Given the description of an element on the screen output the (x, y) to click on. 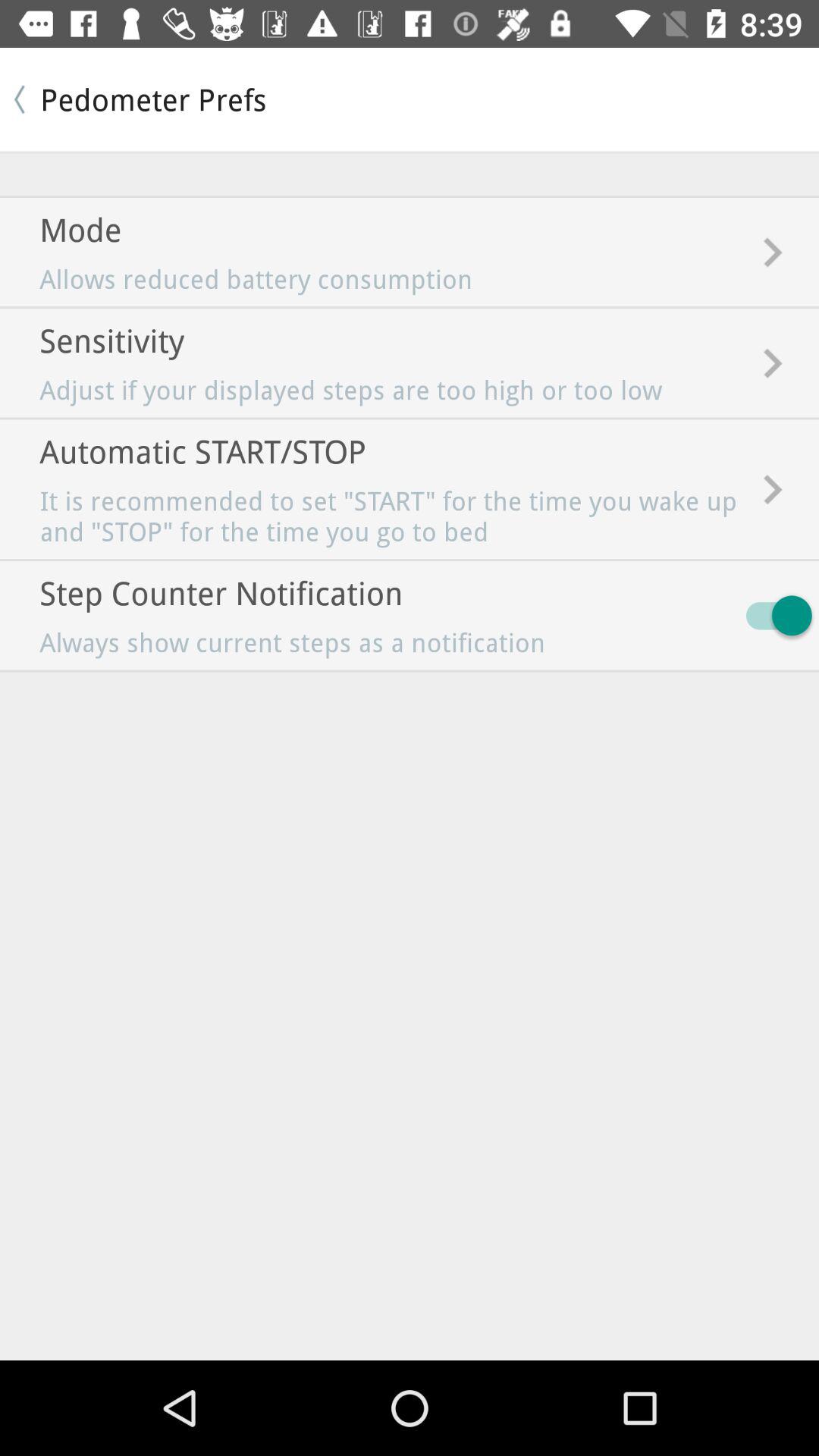
turn on/off (771, 615)
